Given the description of an element on the screen output the (x, y) to click on. 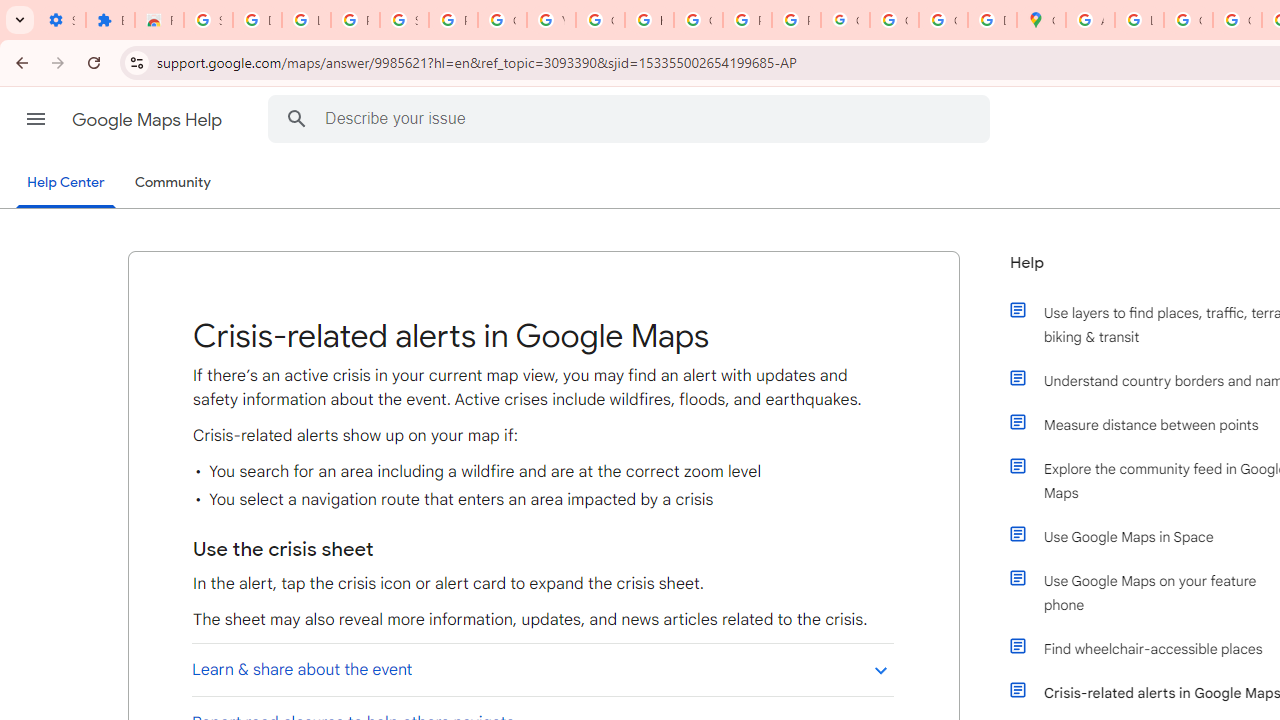
Sign in - Google Accounts (404, 20)
Search Help Center (297, 118)
Google Maps Help (148, 119)
